Given the description of an element on the screen output the (x, y) to click on. 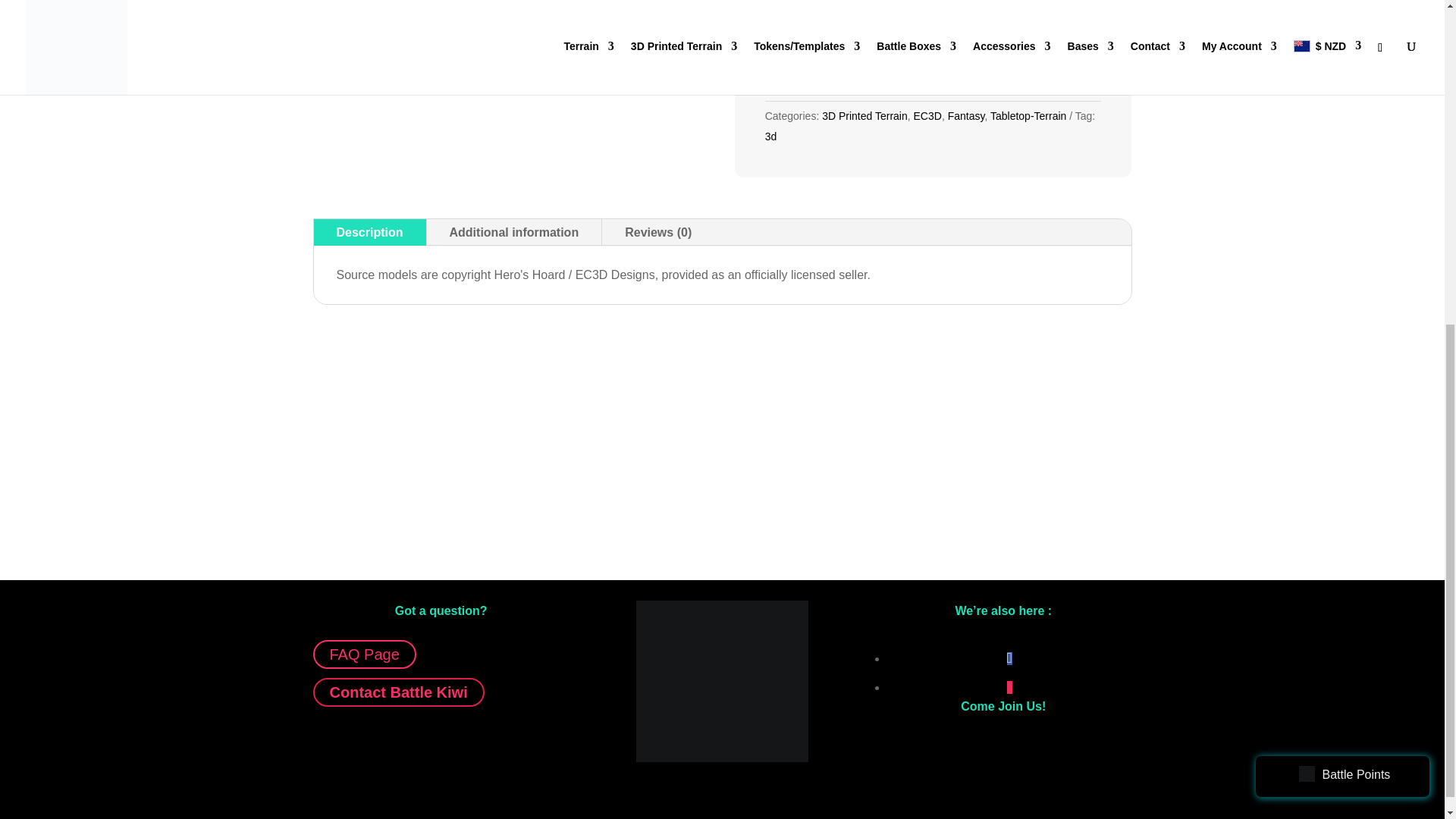
Follow on Facebook (1009, 658)
Follow on Instagram (1009, 686)
